Given the description of an element on the screen output the (x, y) to click on. 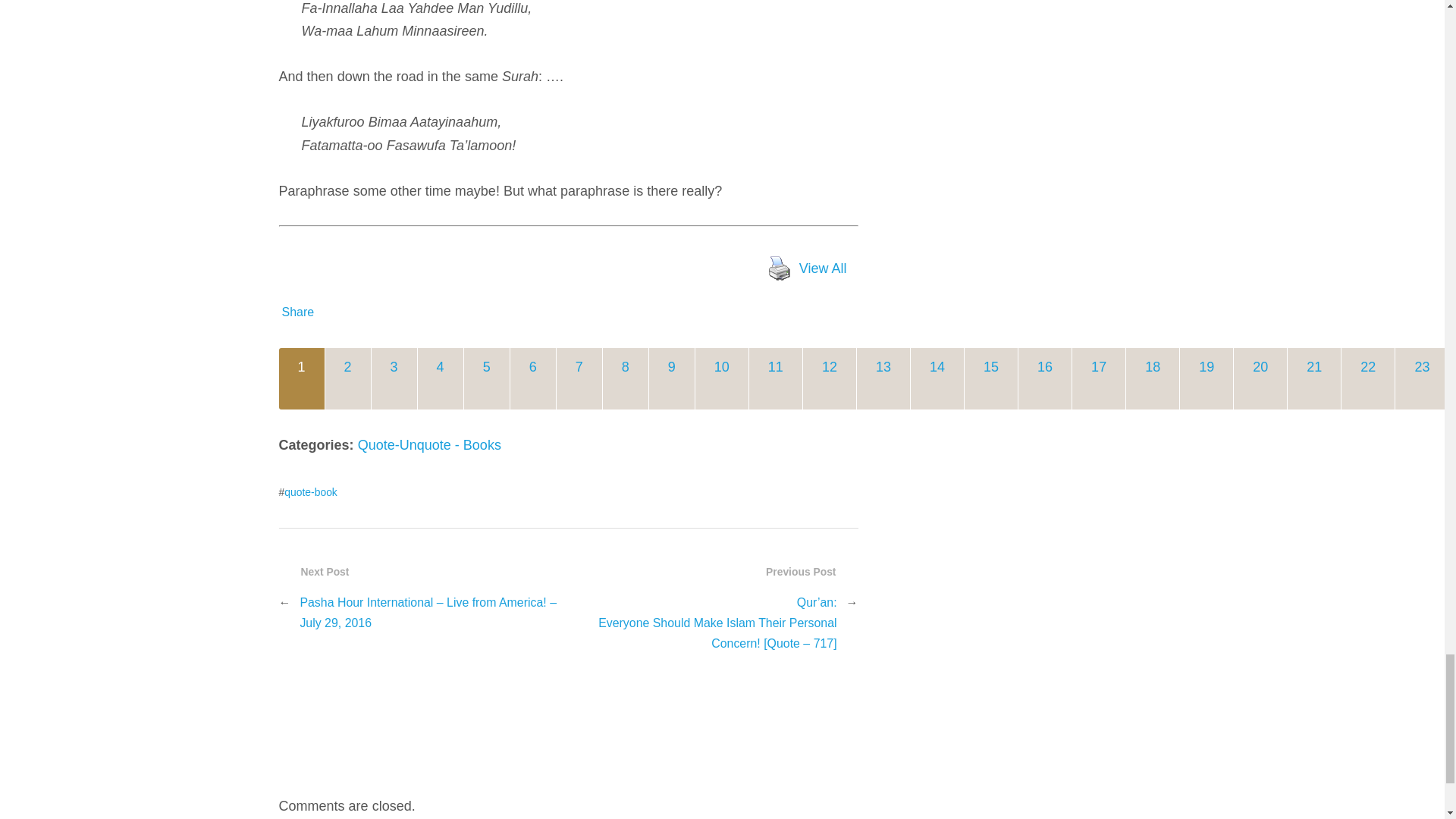
Print Content (778, 268)
